Given the description of an element on the screen output the (x, y) to click on. 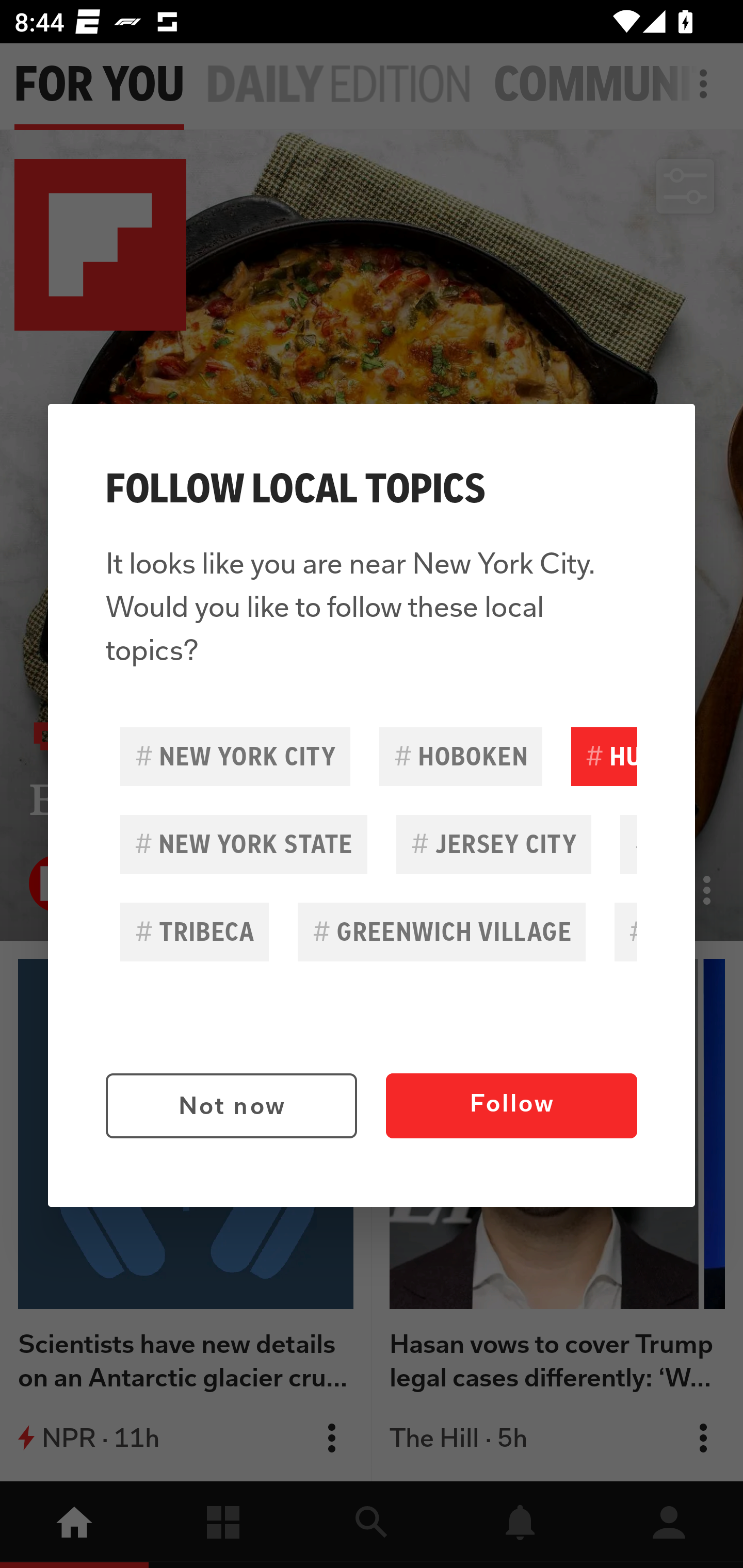
# NEW YORK CITY (235, 756)
# HOBOKEN (460, 756)
# NEW YORK STATE (243, 844)
# JERSEY CITY (493, 844)
# TRIBECA (194, 932)
# GREENWICH VILLAGE (441, 932)
Not now (231, 1106)
Follow (511, 1106)
